Given the description of an element on the screen output the (x, y) to click on. 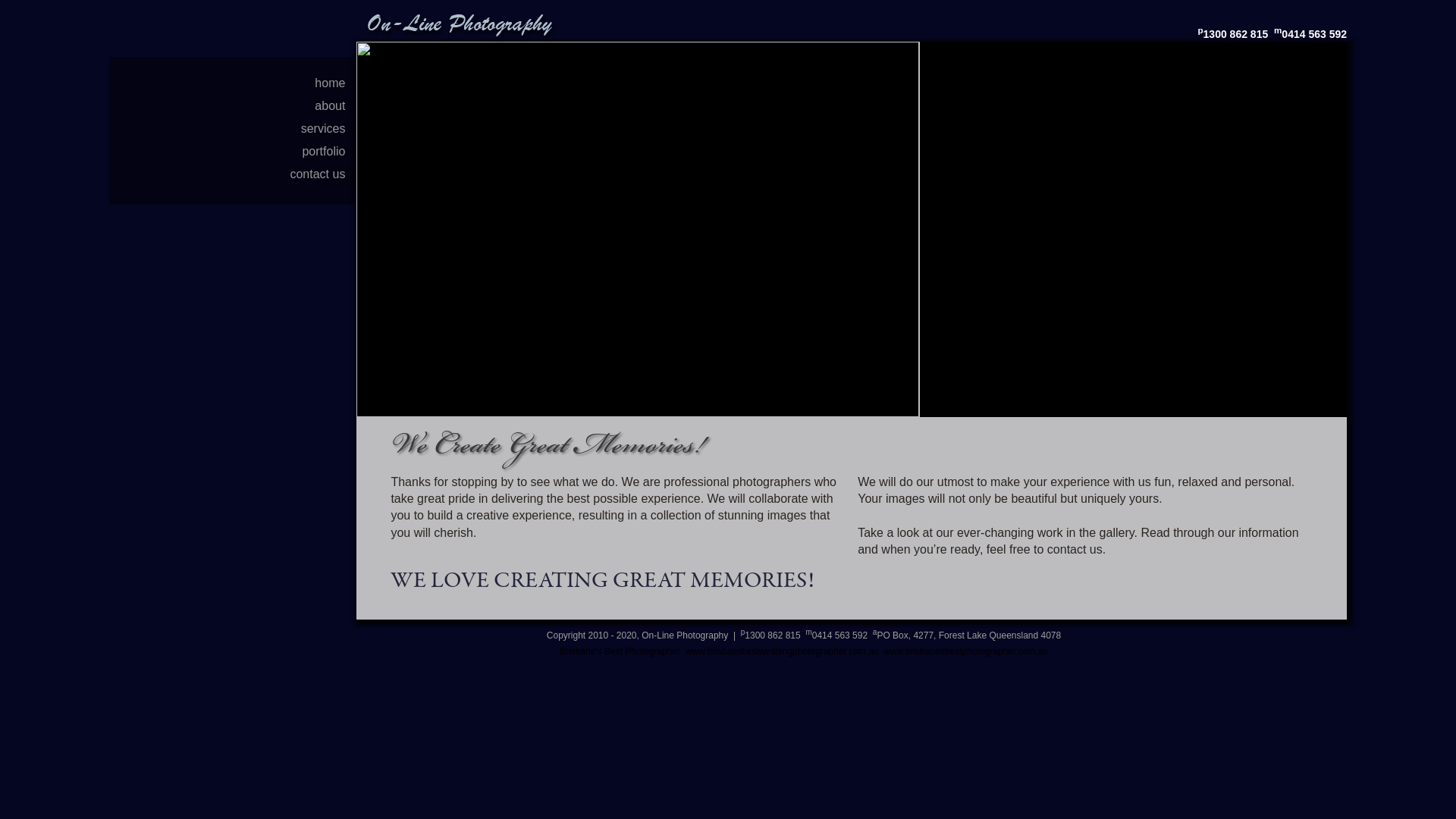
contact us Element type: text (322, 173)
services Element type: text (329, 128)
portfolio Element type: text (328, 151)
home Element type: text (335, 82)
about Element type: text (335, 105)
